Given the description of an element on the screen output the (x, y) to click on. 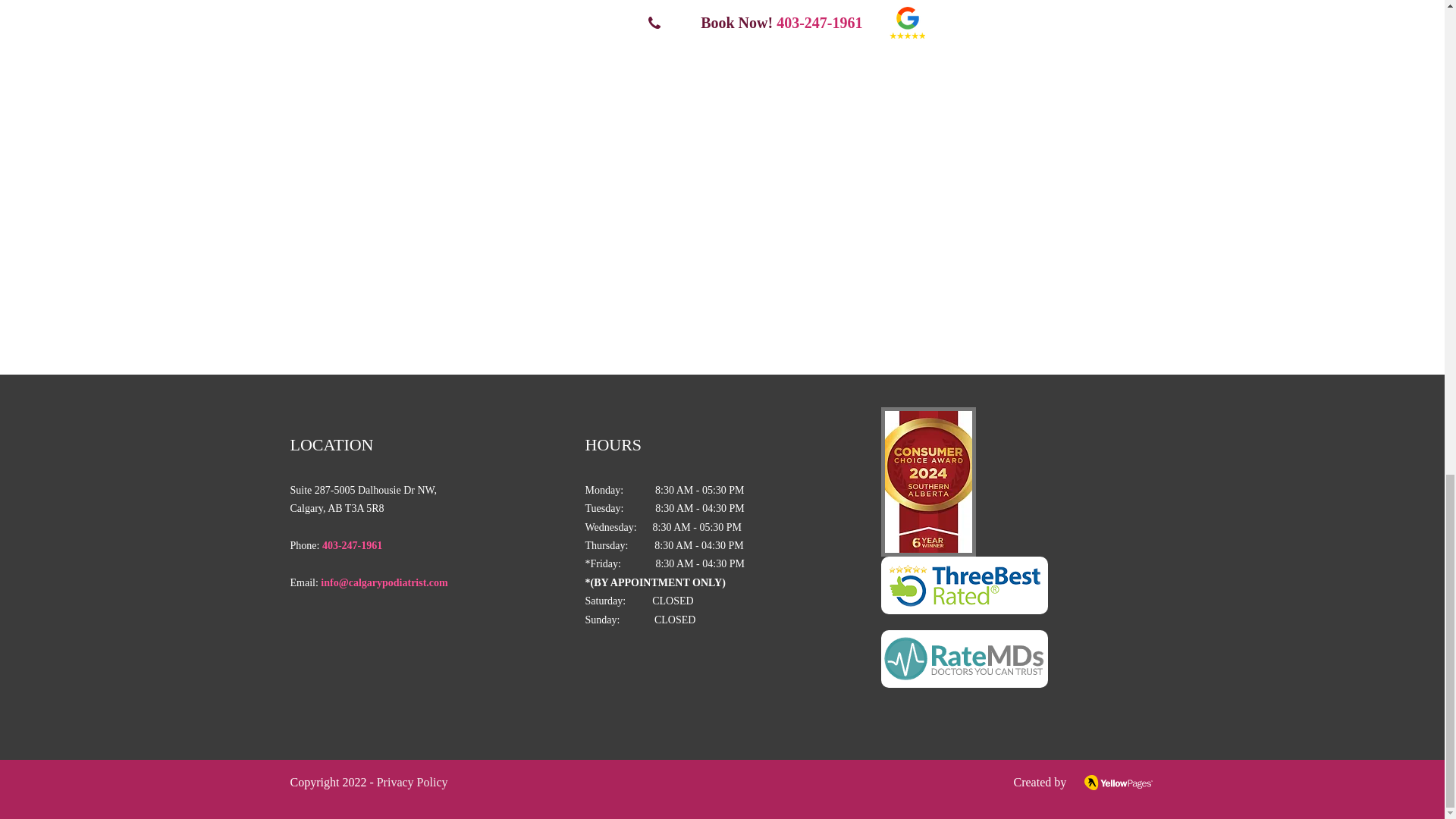
Privacy Policy (411, 781)
403-247-1961 (351, 545)
MEET US (337, 73)
